Given the description of an element on the screen output the (x, y) to click on. 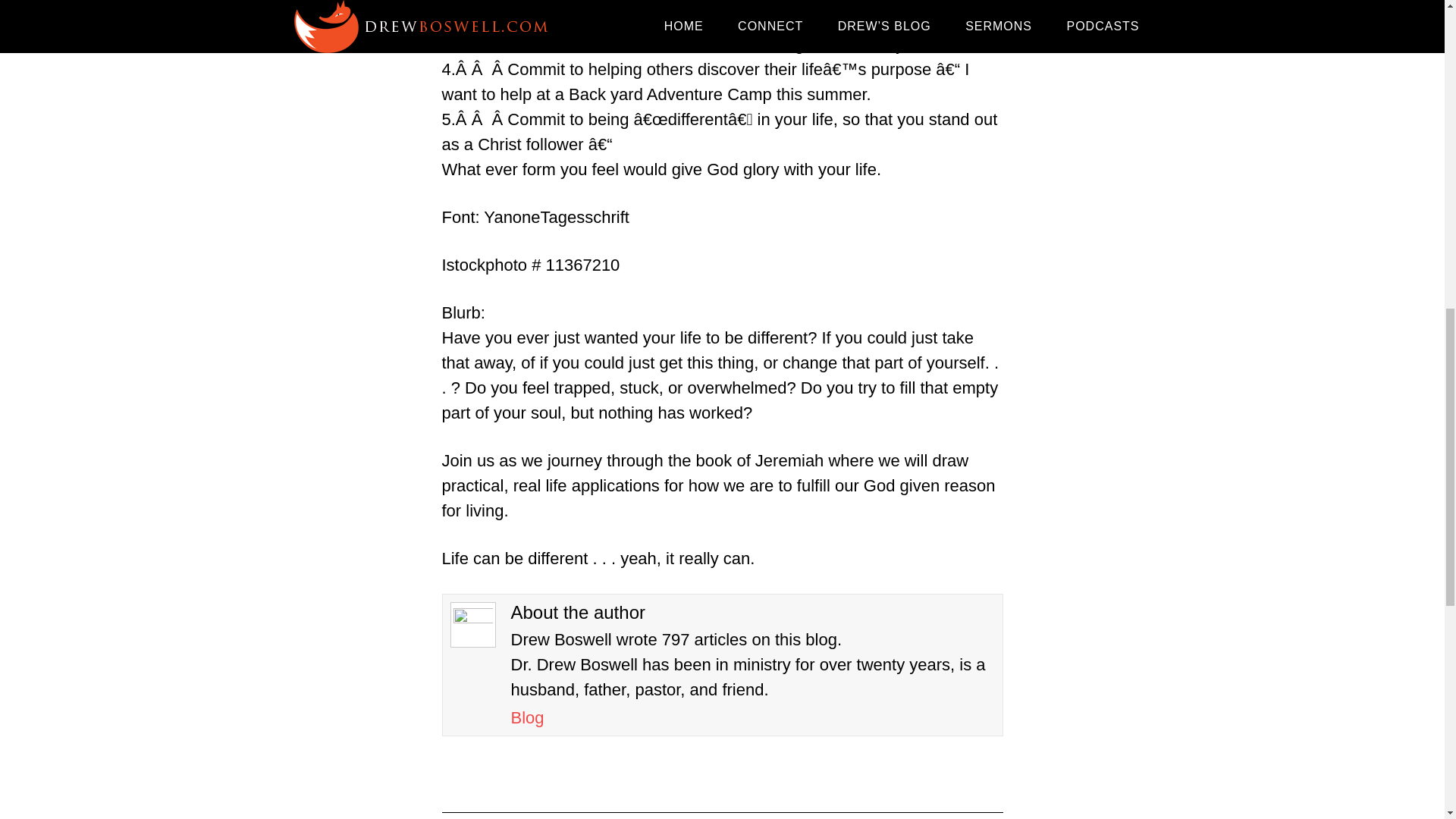
Blog (527, 717)
